Given the description of an element on the screen output the (x, y) to click on. 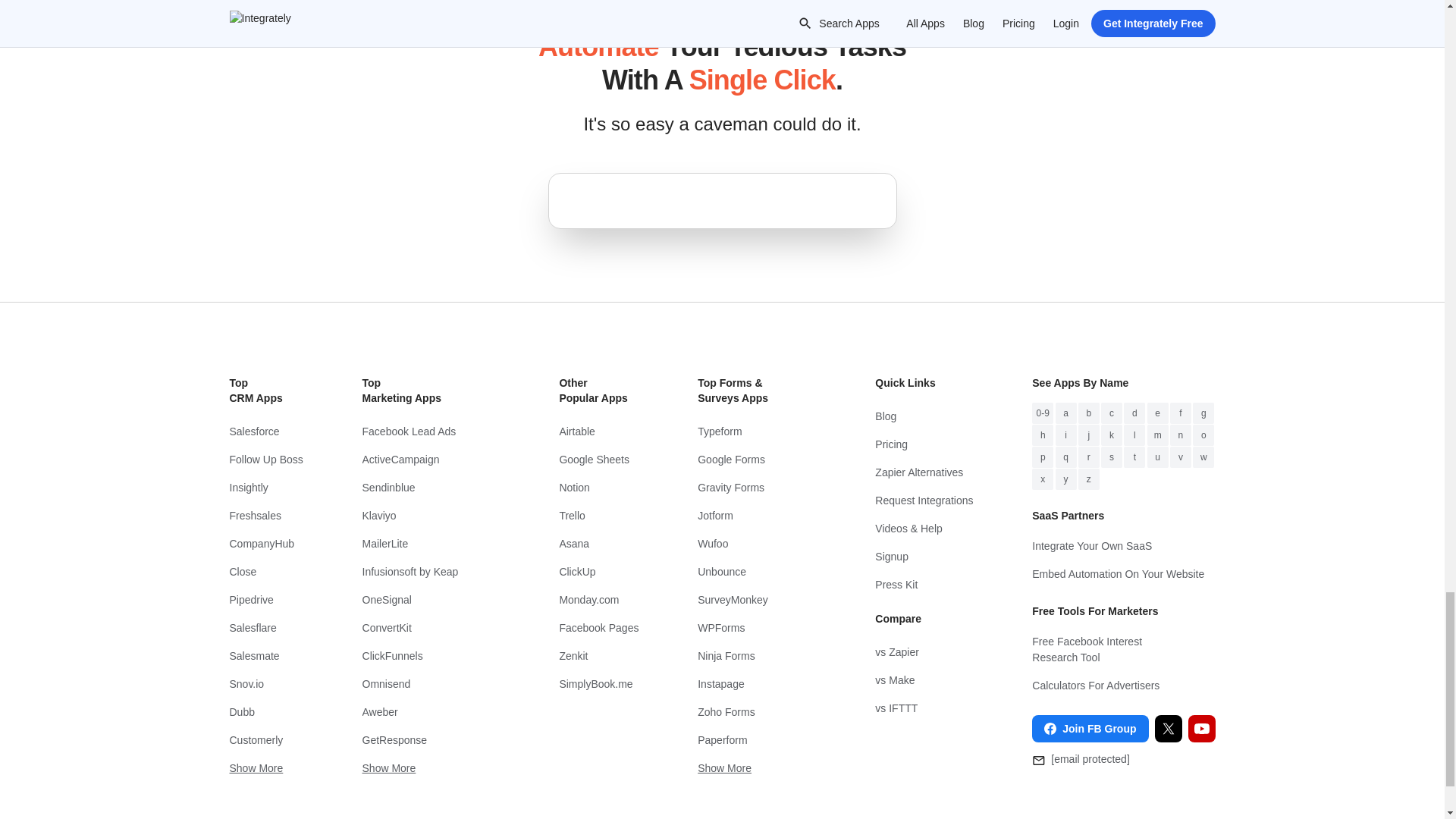
CompanyHub (265, 543)
Omnisend (431, 684)
Salesforce (265, 431)
Dubb (265, 712)
ConvertKit (431, 628)
Pipedrive (265, 600)
Salesflare (265, 628)
Snov.io (265, 684)
ClickFunnels (431, 656)
Insightly (265, 488)
GetResponse (431, 740)
Close (265, 571)
Facebook Lead Ads (431, 431)
Klaviyo (431, 515)
ActiveCampaign (431, 459)
